Given the description of an element on the screen output the (x, y) to click on. 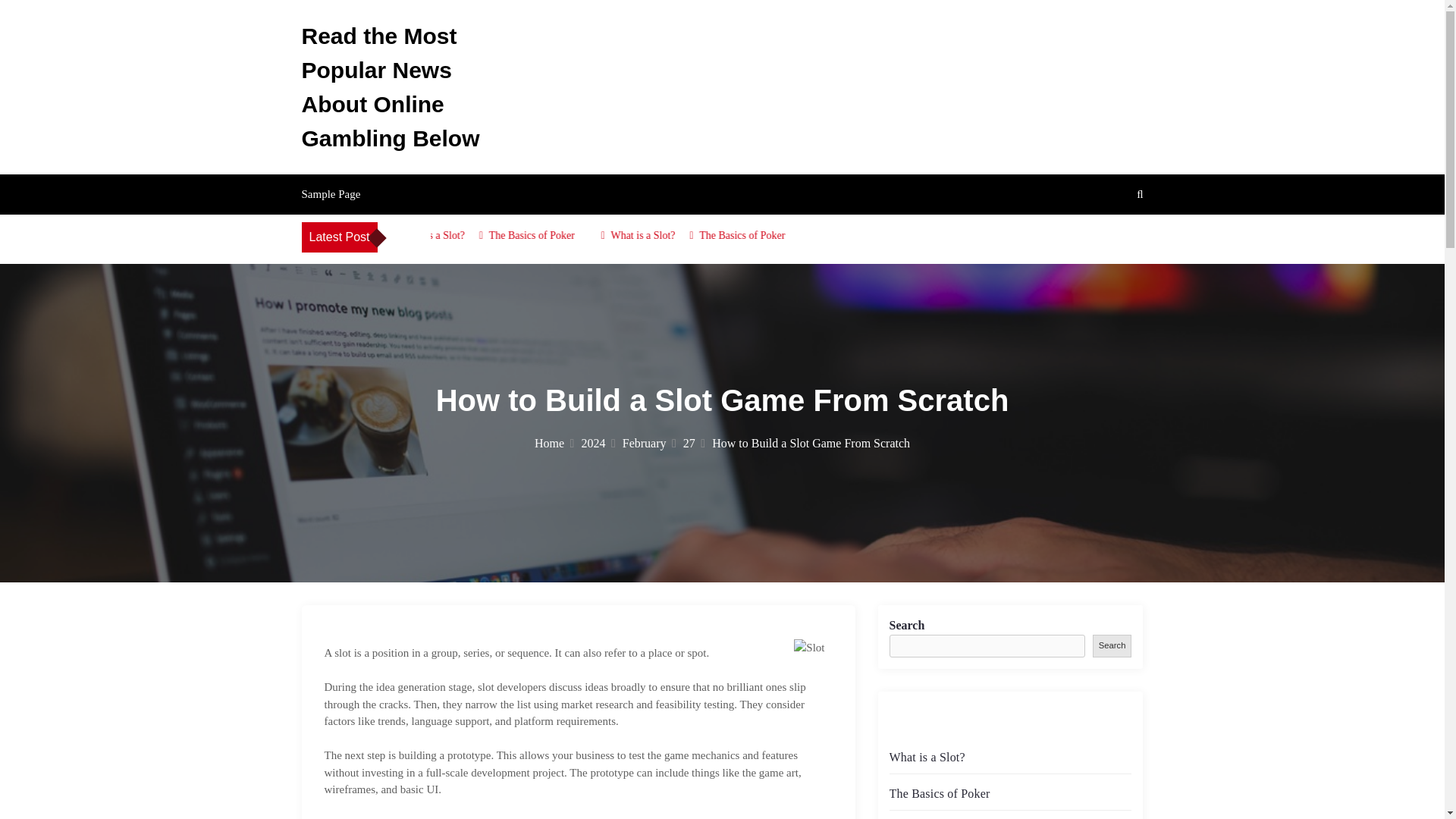
The Basics of Poker (572, 234)
The Basics of Poker (782, 234)
Read the Most Popular News About Online Gambling Below (390, 86)
What is a Slot? (683, 234)
February (650, 442)
27 (693, 442)
Sample Page (331, 193)
Search (1112, 645)
Home (553, 442)
2024 (597, 442)
